Given the description of an element on the screen output the (x, y) to click on. 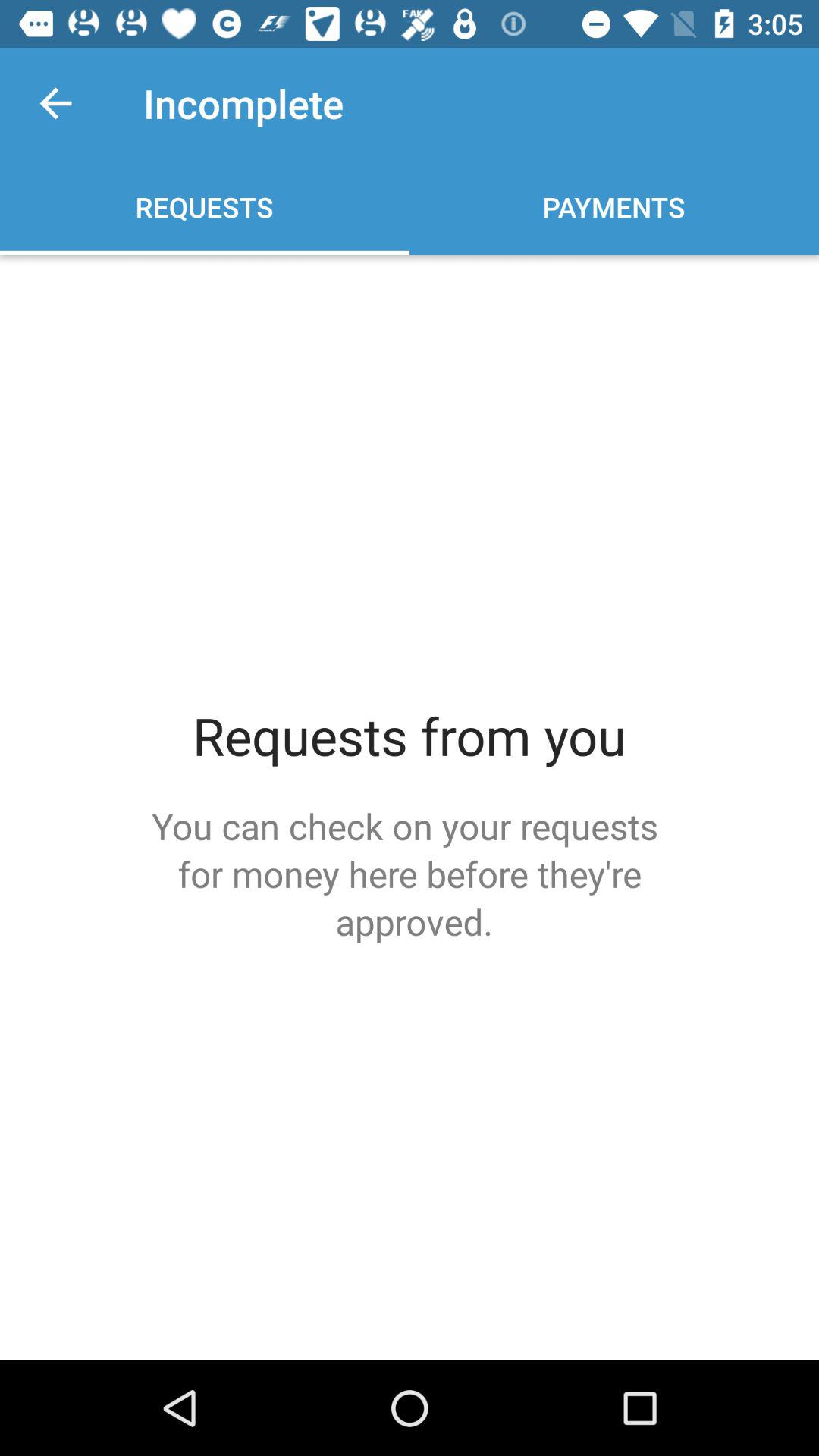
open the icon above requests from you (55, 103)
